Given the description of an element on the screen output the (x, y) to click on. 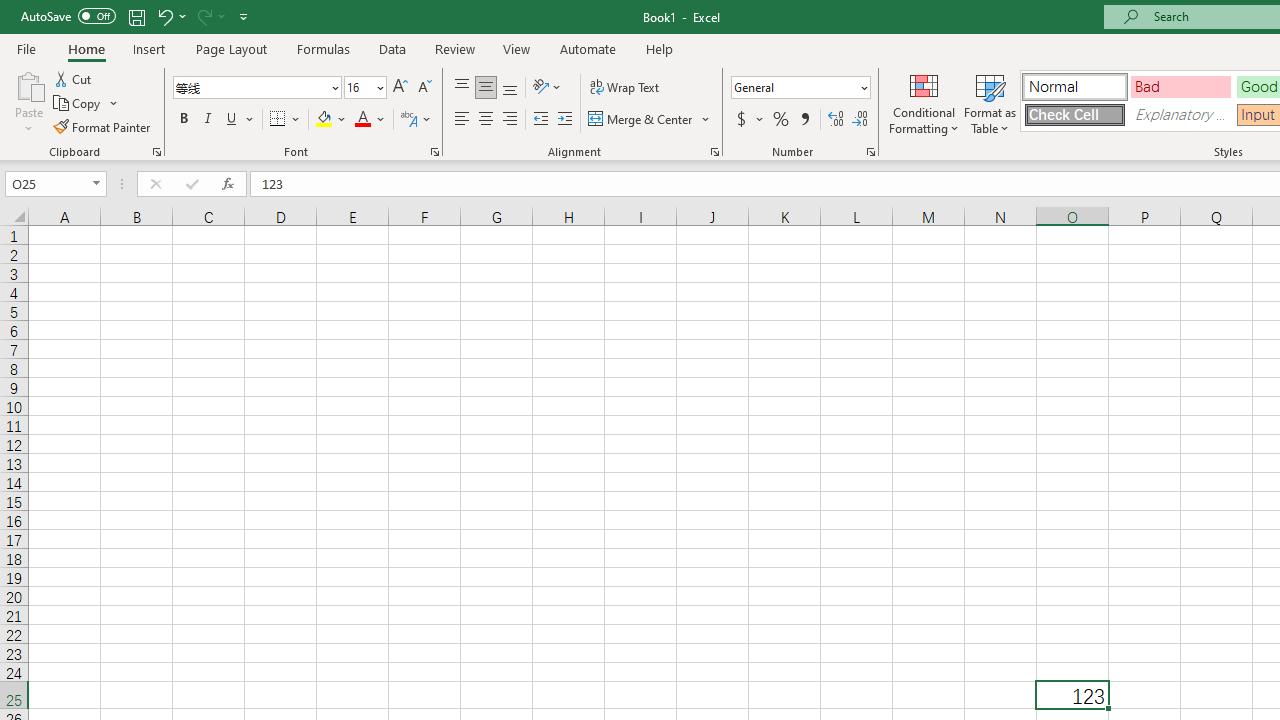
Number Format (800, 87)
Format Cell Font (434, 151)
Decrease Font Size (424, 87)
Help (660, 48)
Data (392, 48)
Paste (28, 102)
Decrease Decimal (859, 119)
Increase Decimal (836, 119)
Comma Style (804, 119)
Decrease Indent (540, 119)
Merge & Center (649, 119)
Font (256, 87)
Normal (1074, 86)
Font Color (370, 119)
Center (485, 119)
